Given the description of an element on the screen output the (x, y) to click on. 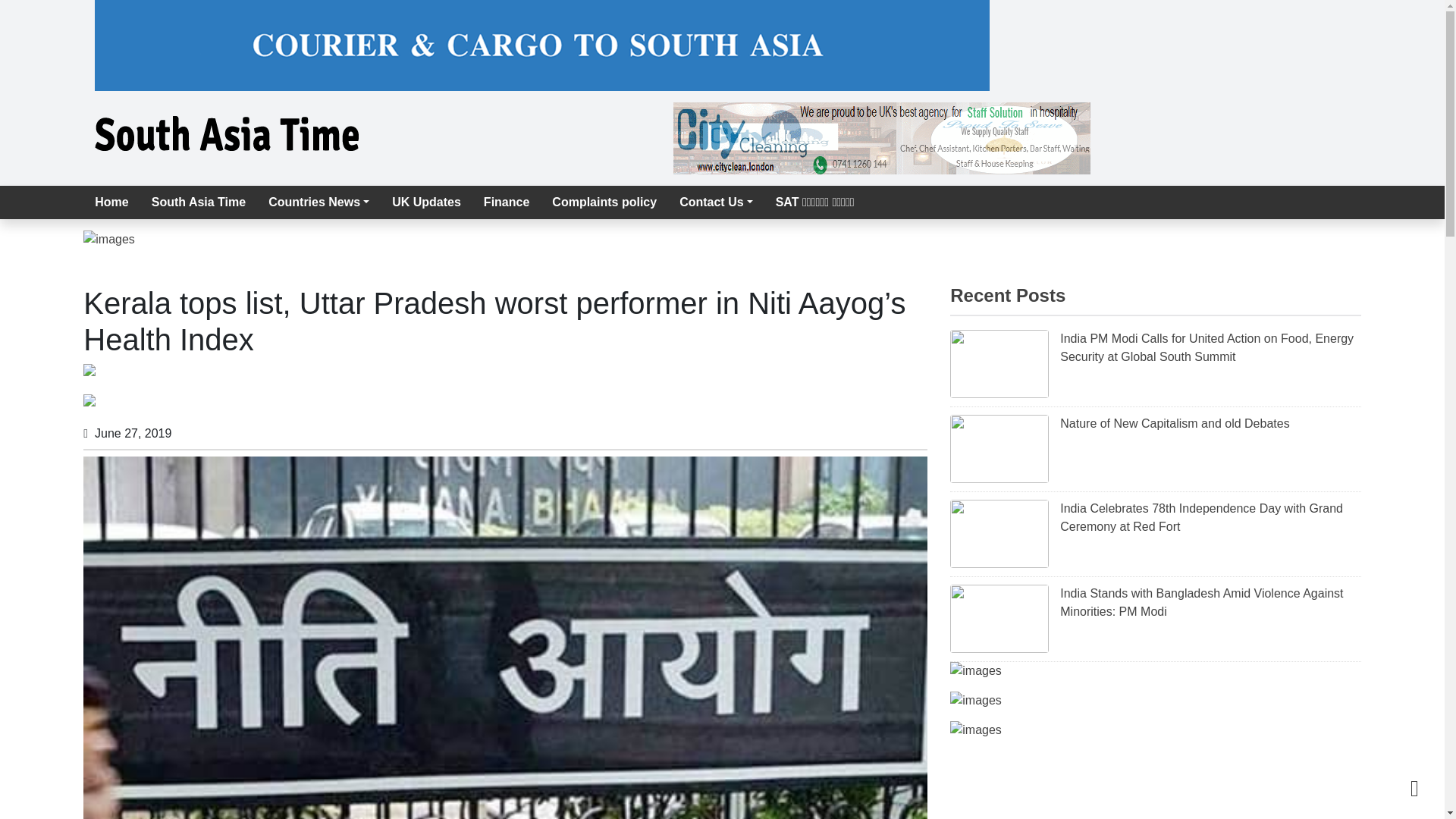
Countries News (318, 202)
South Asia Time (198, 202)
Contact Us (716, 202)
Home (110, 202)
Finance (505, 202)
Home (110, 202)
Complaints policy (604, 202)
Recent Posts (1007, 295)
South Asia Time (198, 202)
Countries News (318, 202)
